Given the description of an element on the screen output the (x, y) to click on. 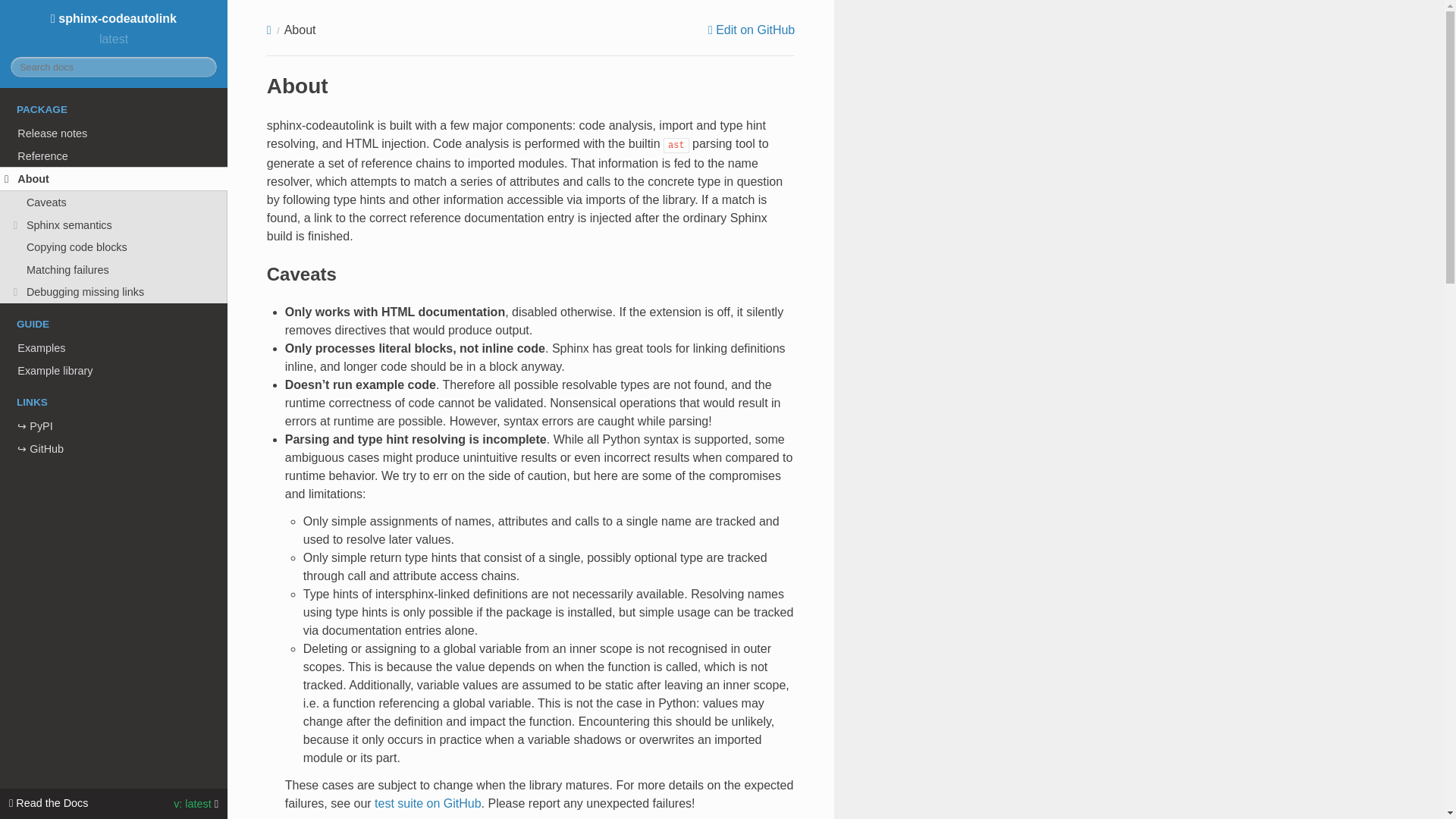
Examples (113, 347)
Example library (113, 370)
test suite on GitHub (427, 802)
Caveats (113, 201)
Reference (113, 155)
Edit on GitHub (750, 30)
Debugging missing links (113, 292)
Release notes (113, 133)
Sphinx semantics (113, 224)
sphinx-codeautolink (113, 18)
About (113, 178)
Copying code blocks (113, 246)
Matching failures (113, 269)
